Given the description of an element on the screen output the (x, y) to click on. 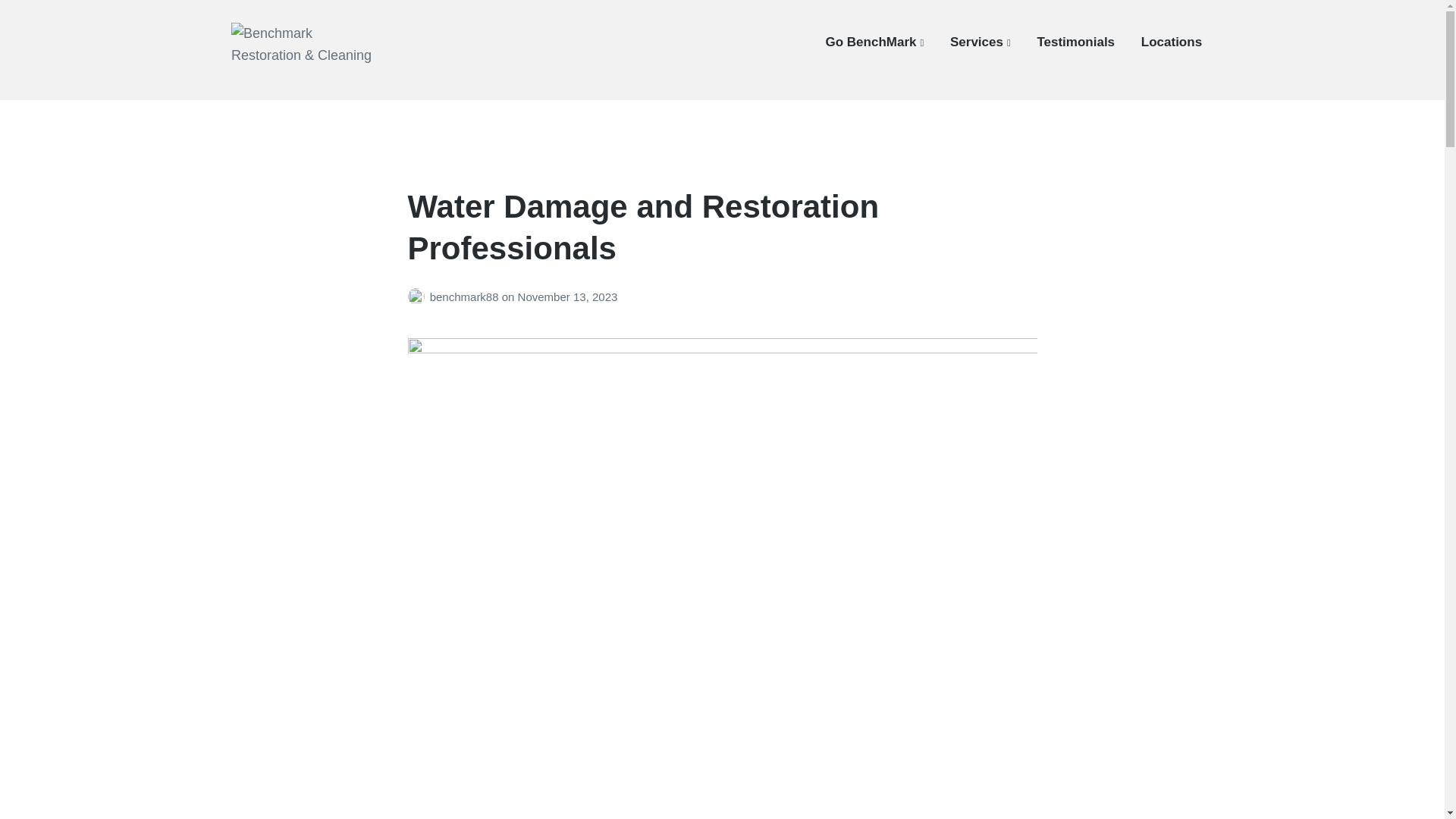
Testimonials (1075, 42)
Go BenchMark (874, 42)
benchmark88 (465, 296)
Services (980, 42)
Posts by benchmark88 (418, 296)
Locations (1171, 42)
